Given the description of an element on the screen output the (x, y) to click on. 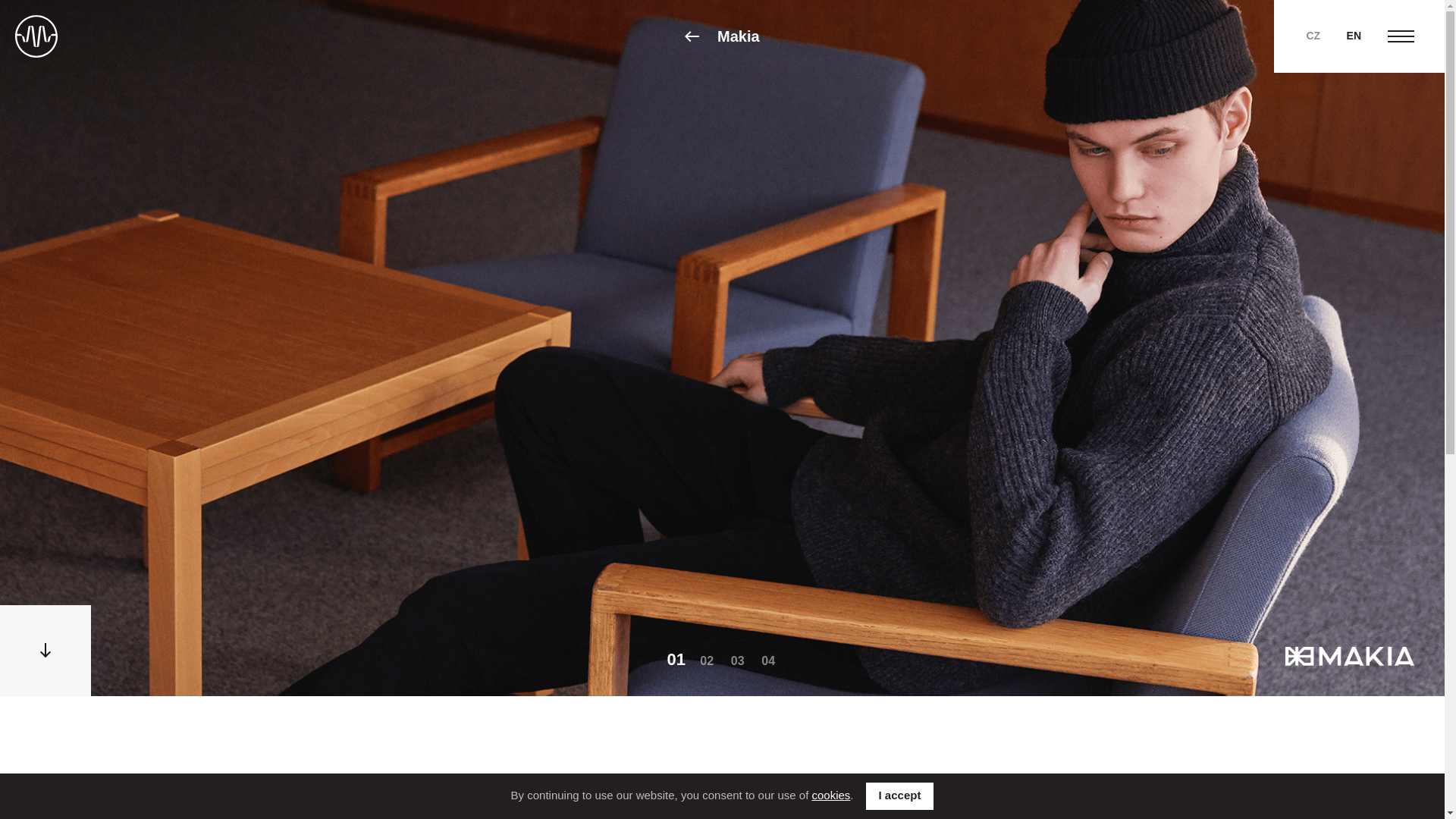
03 (737, 660)
04 (767, 660)
I accept (900, 795)
CZ (1313, 34)
cookies (830, 794)
02 (706, 660)
Makia (721, 36)
01 (675, 659)
Send (722, 628)
